Given the description of an element on the screen output the (x, y) to click on. 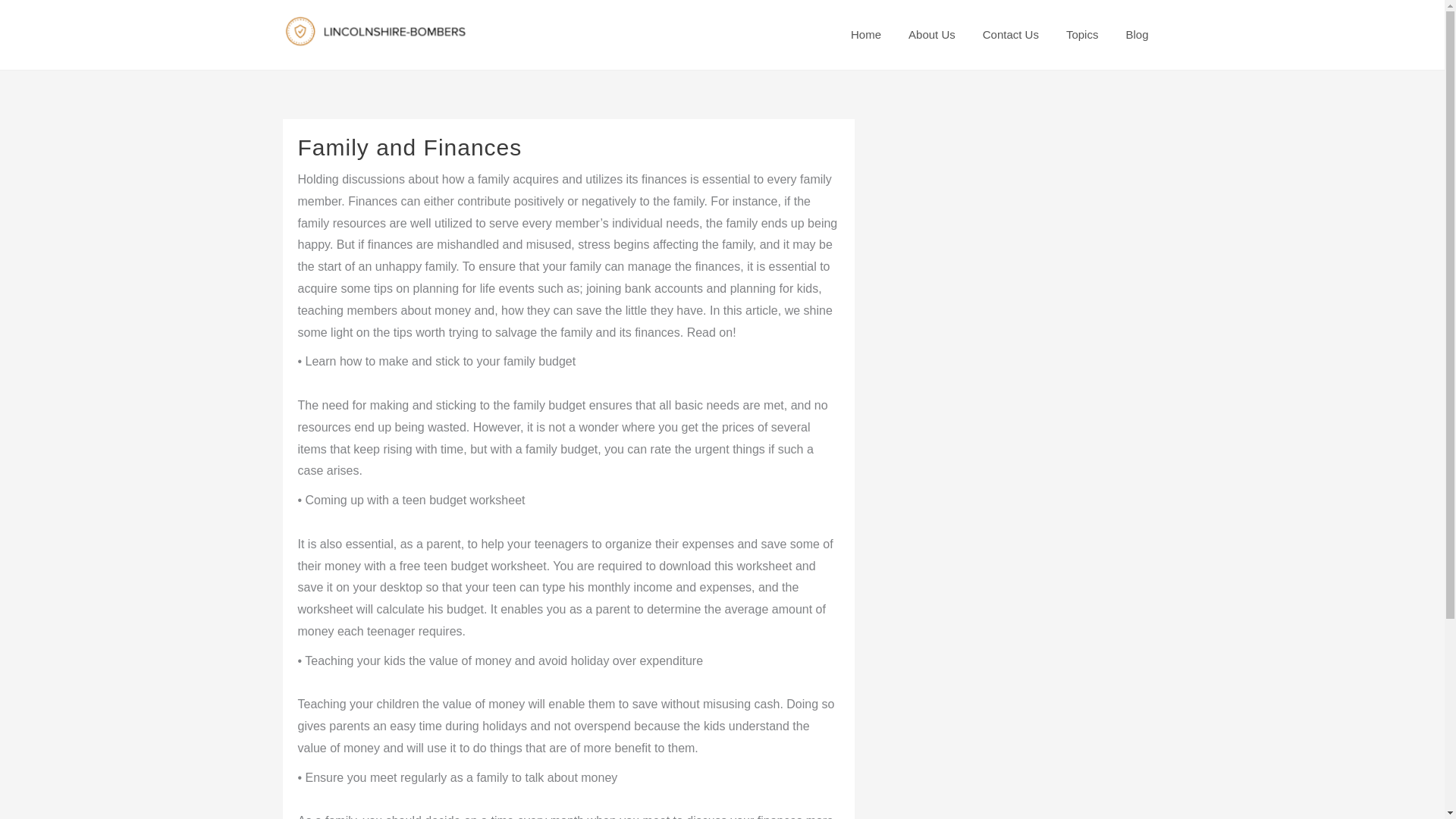
Home (866, 34)
Blog (1136, 34)
Contact Us (1010, 34)
About Us (932, 34)
Topics (1082, 34)
